Given the description of an element on the screen output the (x, y) to click on. 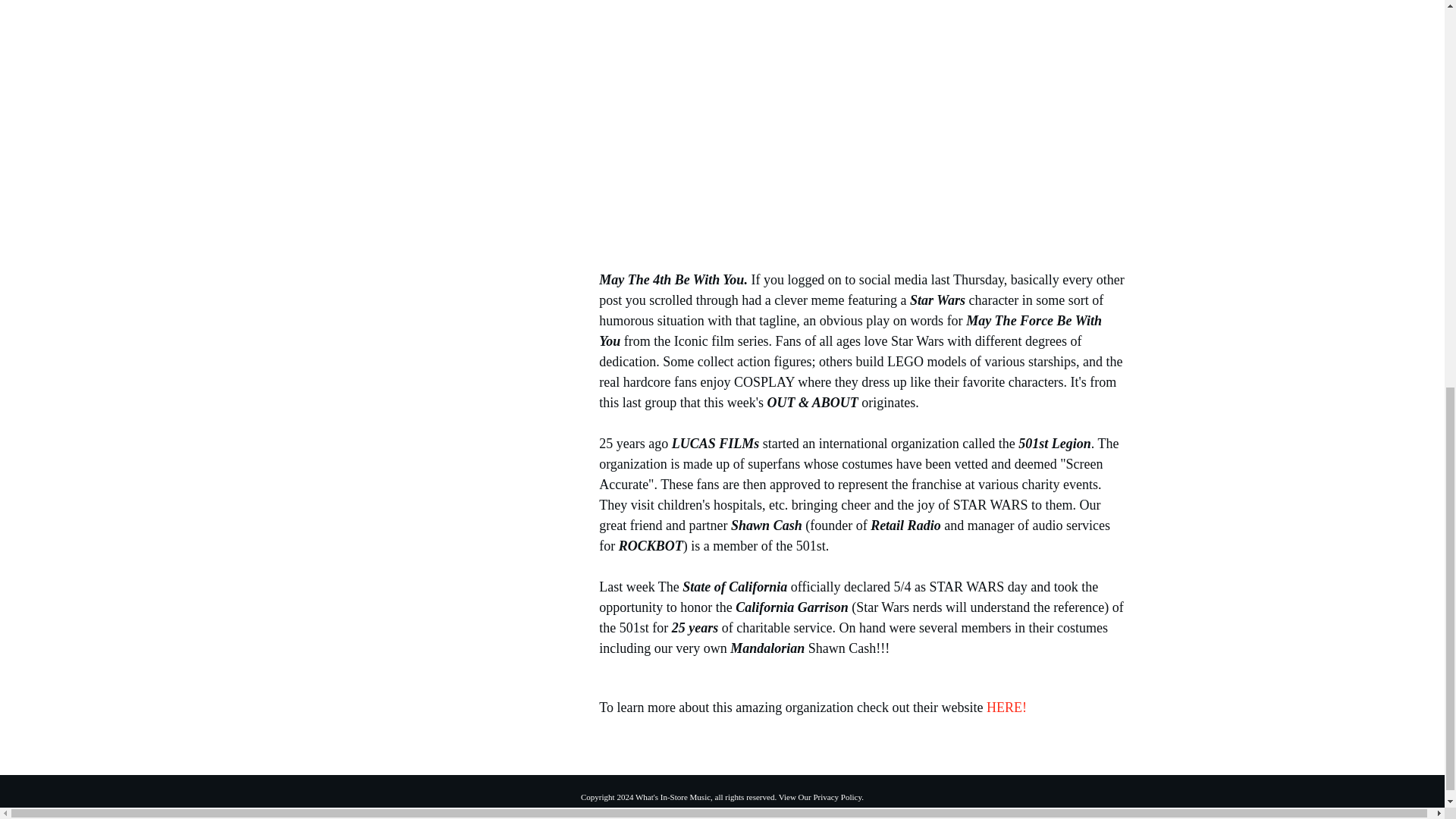
HERE! (1006, 707)
